Given the description of an element on the screen output the (x, y) to click on. 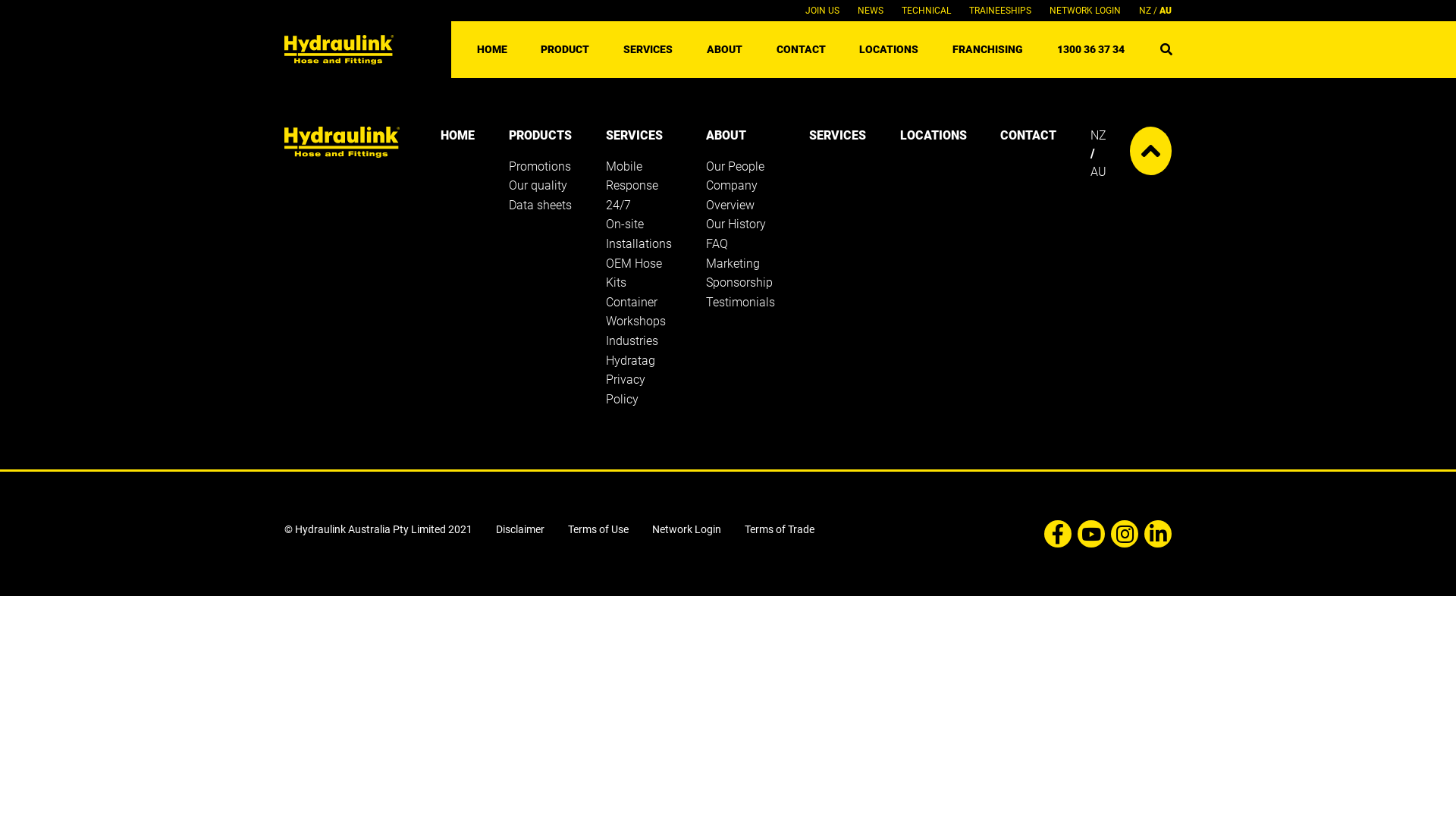
AU Element type: text (1098, 171)
NZ Element type: text (1098, 135)
PRODUCT Element type: text (564, 49)
NETWORK LOGIN Element type: text (1084, 10)
YouTube Element type: hover (1087, 533)
HOME Element type: text (457, 135)
PRODUCTS Element type: text (539, 135)
FAQ Element type: text (717, 243)
ABOUT Element type: text (724, 49)
Instagram Element type: hover (1121, 533)
Marketing Element type: text (732, 263)
FRANCHISING Element type: text (987, 49)
TECHNICAL Element type: text (925, 10)
Industries Element type: text (631, 340)
JOIN US Element type: text (822, 10)
CONTACT Element type: text (800, 49)
1300 36 37 34 Element type: text (1090, 49)
OEM Hose Kits Element type: text (633, 273)
CONTACT Element type: text (1028, 135)
TRAINEESHIPS Element type: text (1000, 10)
On-site Installations Element type: text (638, 233)
ABOUT Element type: text (726, 135)
NEWS Element type: text (870, 10)
HOME Element type: text (491, 49)
Our People Element type: text (735, 166)
Facebook Element type: hover (1054, 533)
Disclaimer Element type: text (519, 529)
Hydratag Privacy Policy Element type: text (630, 379)
Sponsorship Element type: text (739, 282)
Terms of Trade Element type: text (779, 529)
SERVICES Element type: text (647, 49)
Promotions Element type: text (539, 166)
LOCATIONS Element type: text (933, 135)
Testimonials Element type: text (740, 301)
Data sheets Element type: text (539, 204)
SERVICES Element type: text (837, 135)
Mobile Response 24/7 Element type: text (631, 185)
Company Overview Element type: text (731, 195)
LinkedIn Element type: hover (1154, 533)
Terms of Use Element type: text (597, 529)
AU Element type: text (1165, 10)
Our quality Element type: text (537, 185)
Network Login Element type: text (687, 529)
SERVICES Element type: text (633, 135)
Container Workshops Element type: text (635, 311)
Our History Element type: text (735, 223)
LOCATIONS Element type: text (888, 49)
NZ Element type: text (1145, 10)
